Given the description of an element on the screen output the (x, y) to click on. 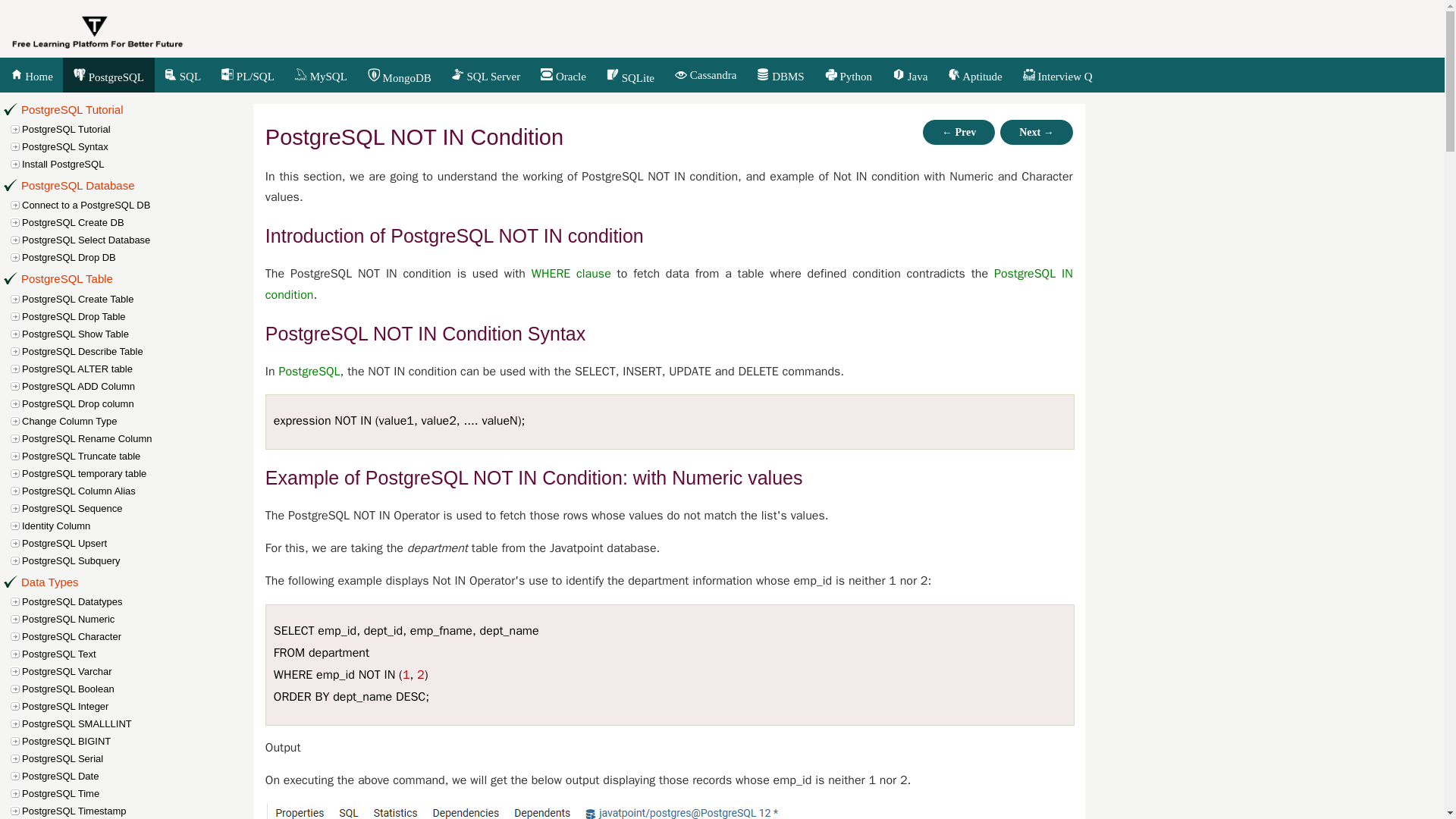
PostgreSQL Subquery (138, 560)
SQLite (629, 76)
MongoDB (398, 76)
PostgreSQL ADD Column (138, 385)
SQL (182, 76)
PostgreSQL Drop DB (138, 257)
PostgreSQL Column Alias (138, 490)
PostgreSQL Truncate table (138, 455)
PostgreSQL (108, 76)
PostgreSQL Rename Column (138, 438)
